Given the description of an element on the screen output the (x, y) to click on. 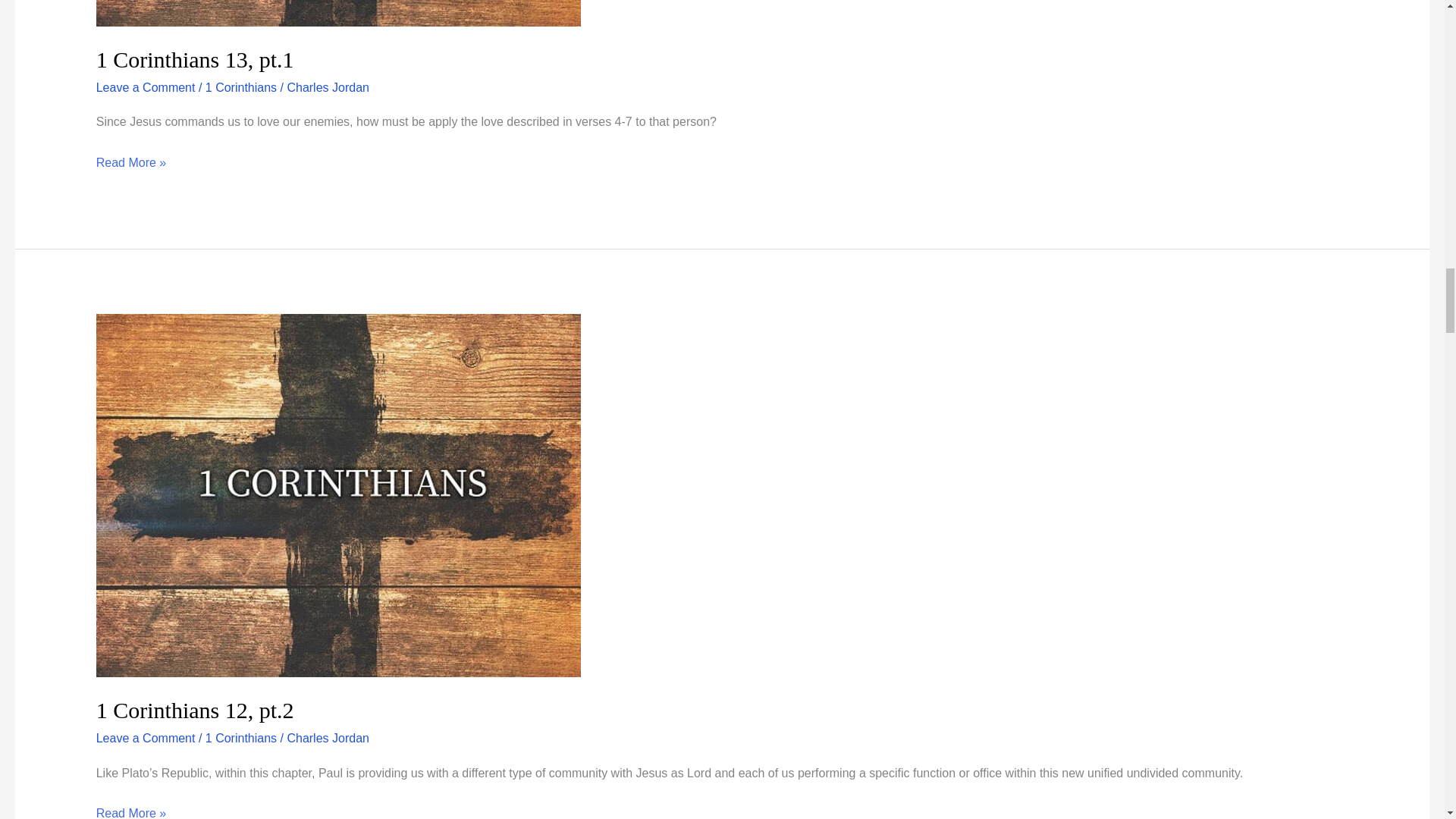
View all posts by Charles Jordan (327, 87)
View all posts by Charles Jordan (327, 738)
